Given the description of an element on the screen output the (x, y) to click on. 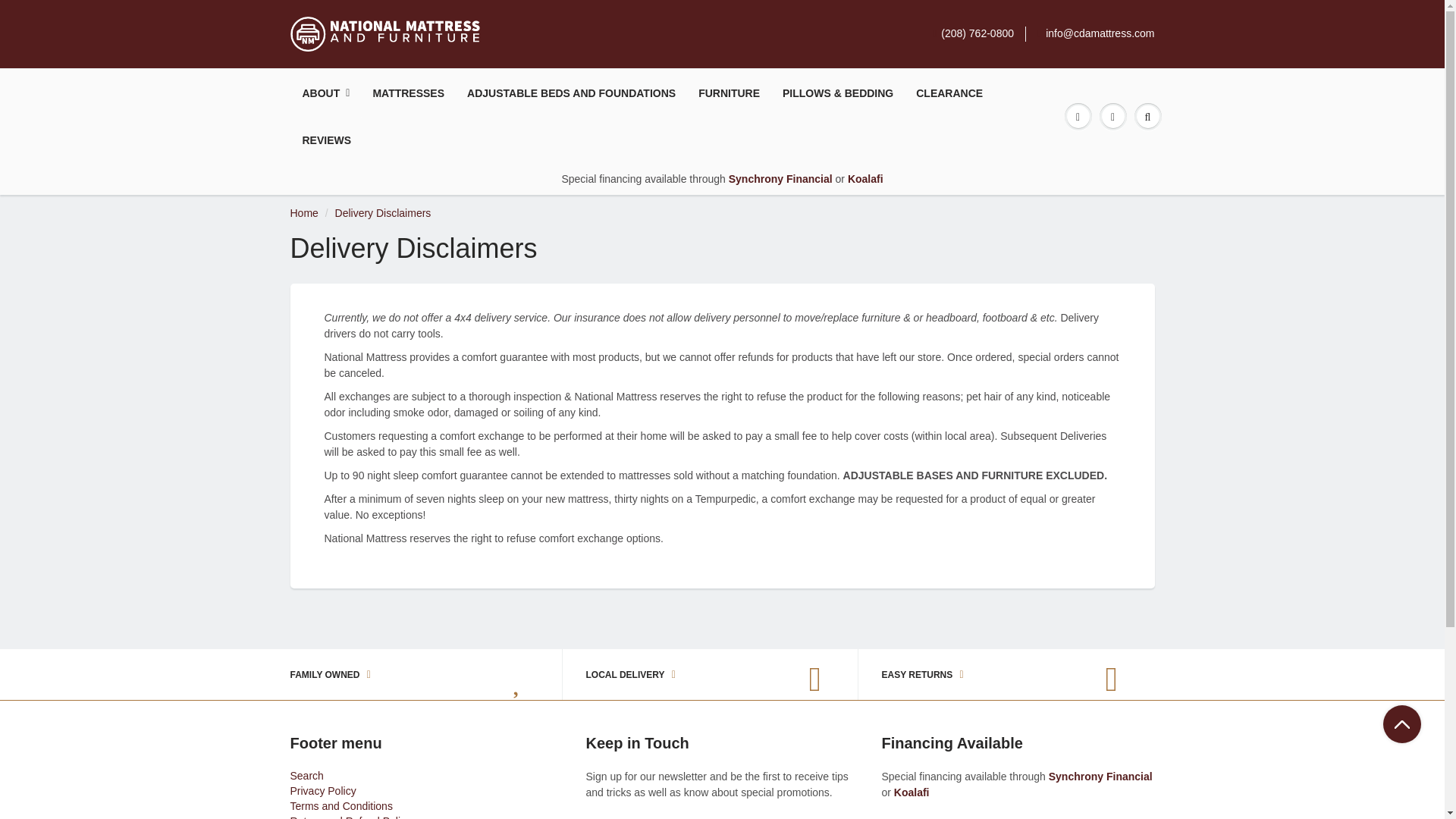
Return and Refund Policy (349, 816)
EASY RETURNS (994, 674)
MATTRESSES (408, 93)
Home (303, 213)
Synchrony Financial (1100, 776)
Synchrony Financial (782, 178)
ABOUT (326, 93)
ADJUSTABLE BEDS AND FOUNDATIONS (571, 93)
Koalafi (865, 178)
